Given the description of an element on the screen output the (x, y) to click on. 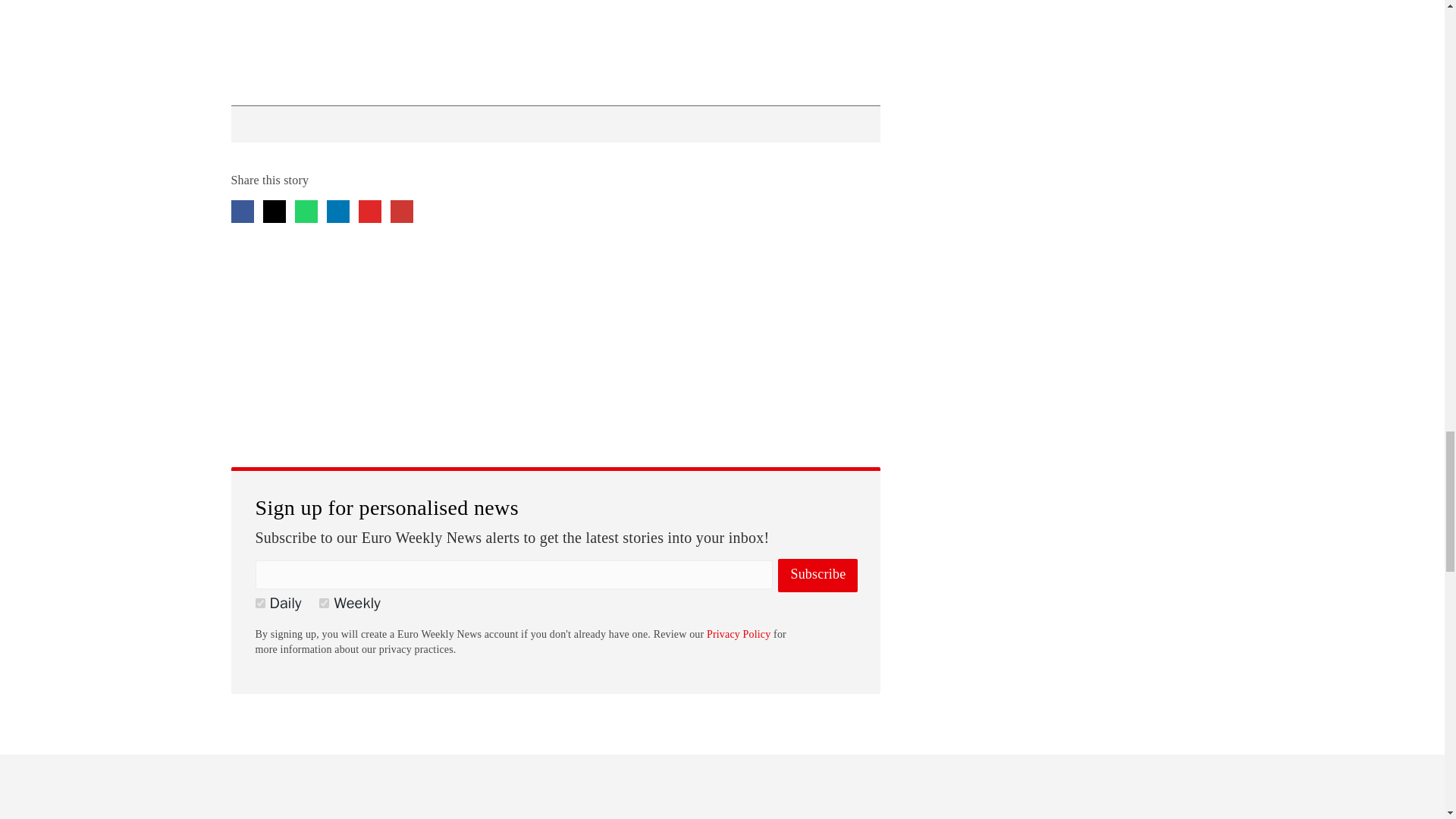
6 (259, 603)
Subscribe (817, 575)
7 (323, 603)
